Given the description of an element on the screen output the (x, y) to click on. 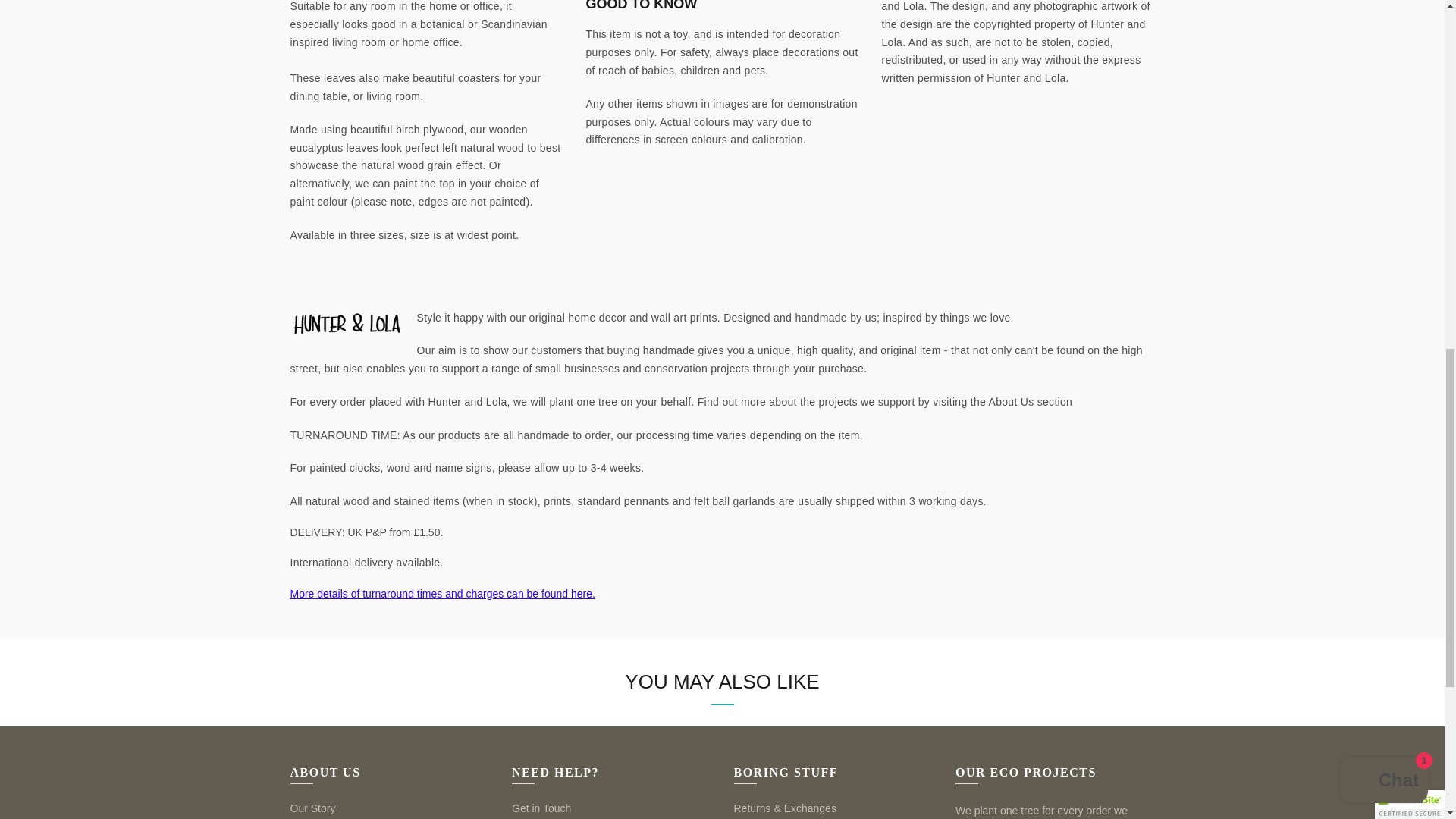
Hunter and Lola Delivery (441, 593)
